Given the description of an element on the screen output the (x, y) to click on. 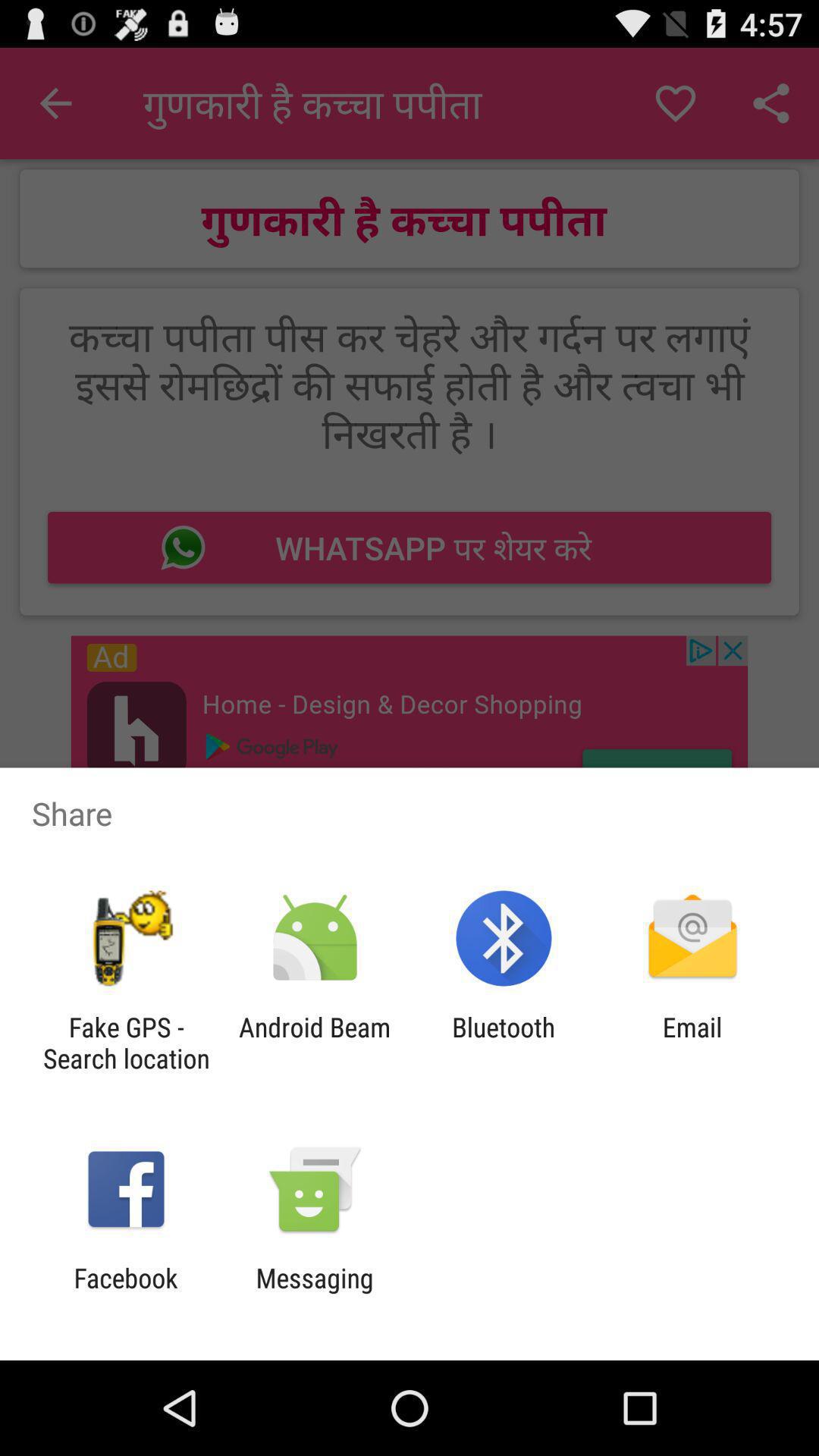
launch icon next to fake gps search item (314, 1042)
